Given the description of an element on the screen output the (x, y) to click on. 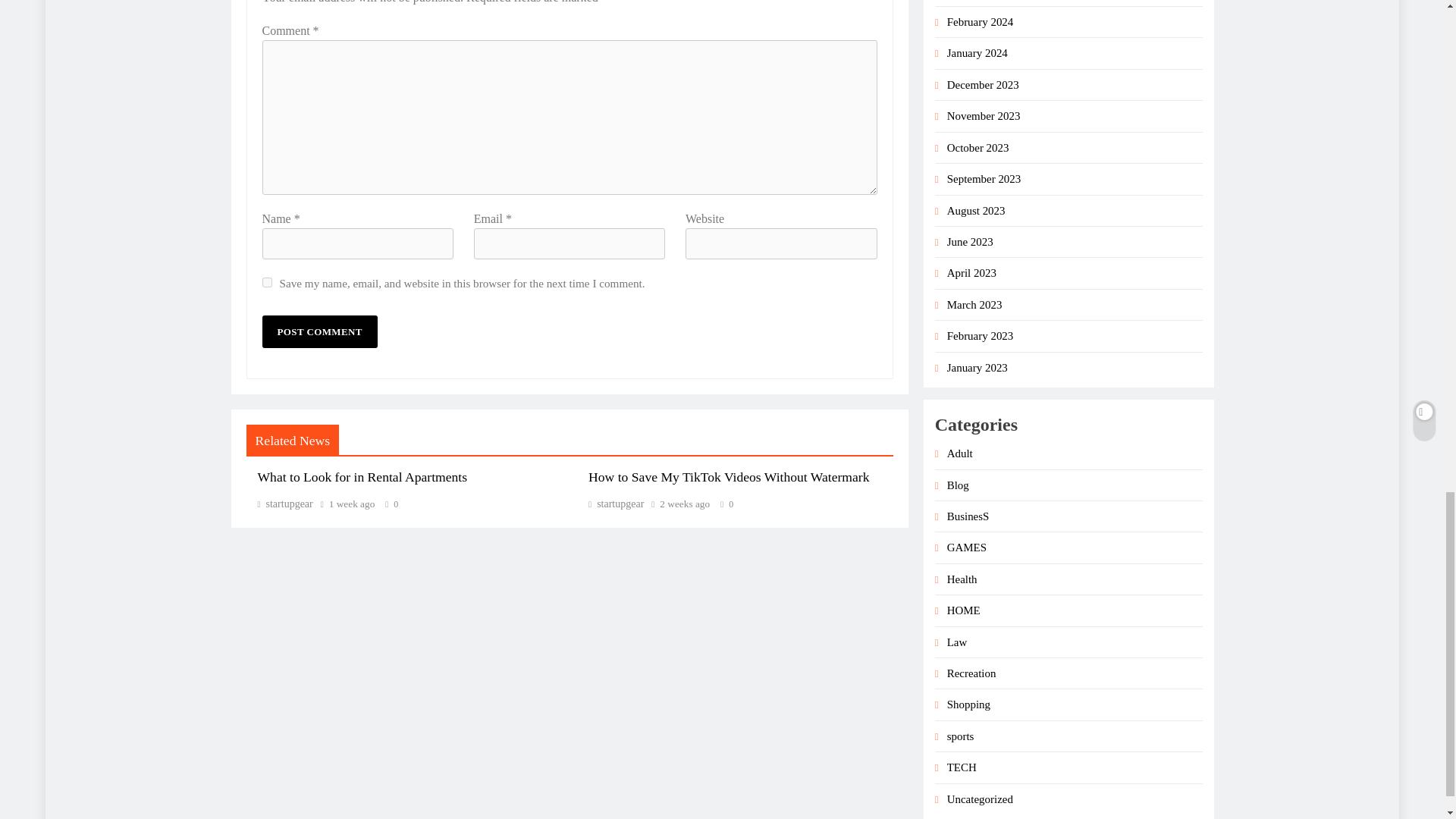
Post Comment (319, 331)
How to Save My TikTok Videos Without Watermark (728, 476)
1 week ago (352, 503)
Post Comment (319, 331)
startupgear (285, 503)
What to Look for in Rental Apartments (362, 476)
yes (267, 282)
2 weeks ago (684, 503)
startupgear (615, 503)
